Given the description of an element on the screen output the (x, y) to click on. 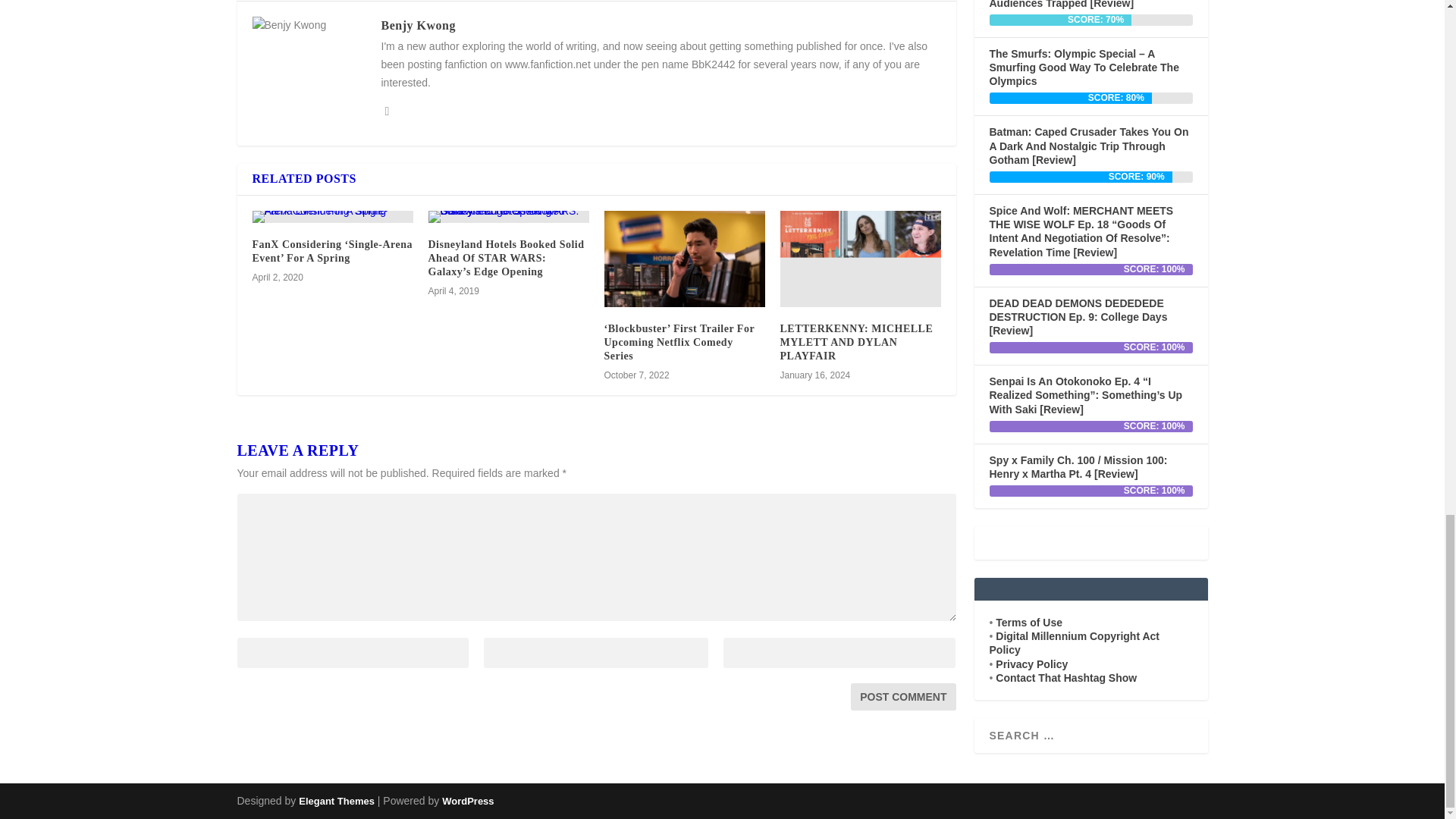
Post Comment (902, 696)
